Given the description of an element on the screen output the (x, y) to click on. 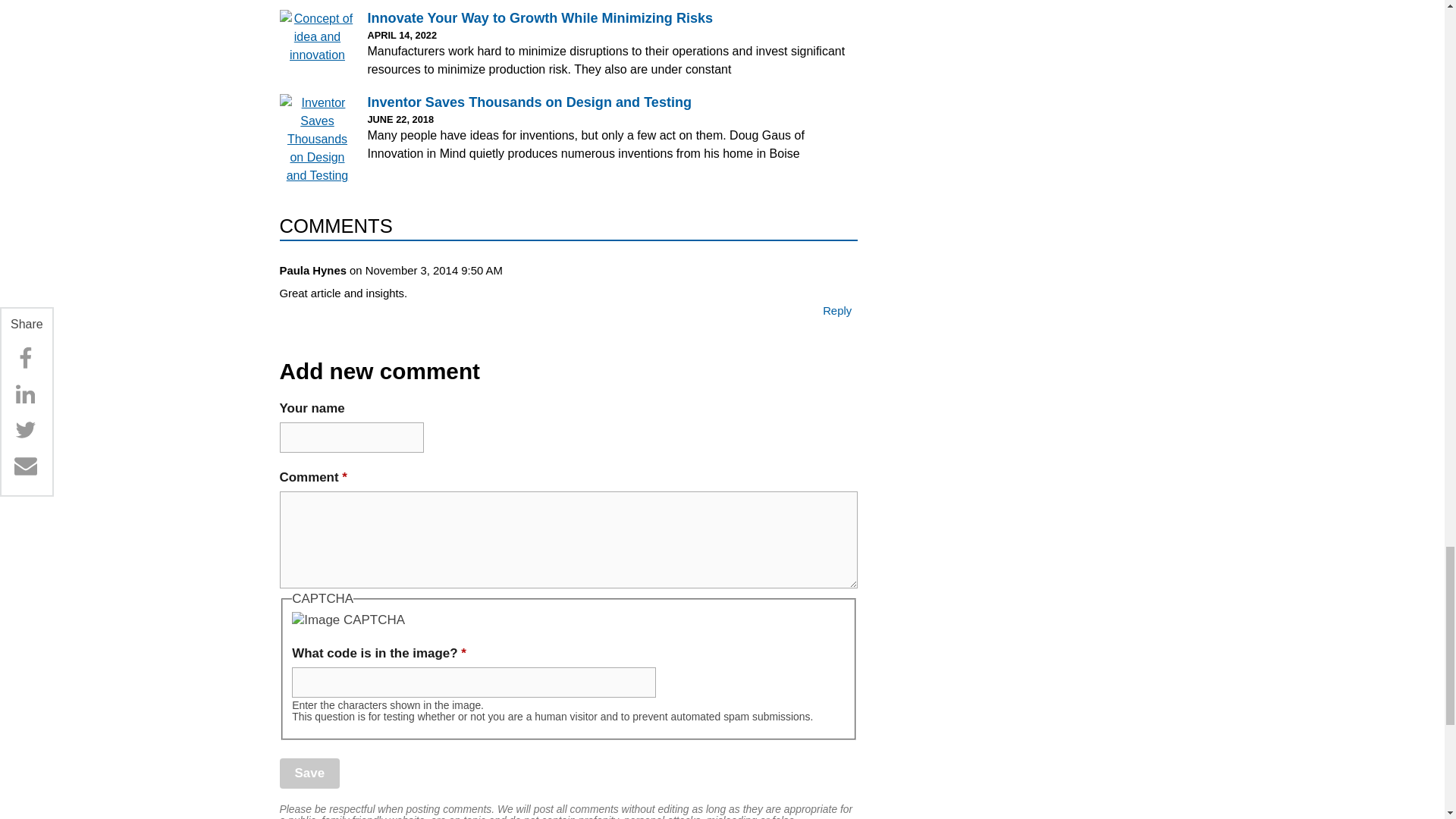
Image CAPTCHA (348, 619)
Save (309, 772)
